Given the description of an element on the screen output the (x, y) to click on. 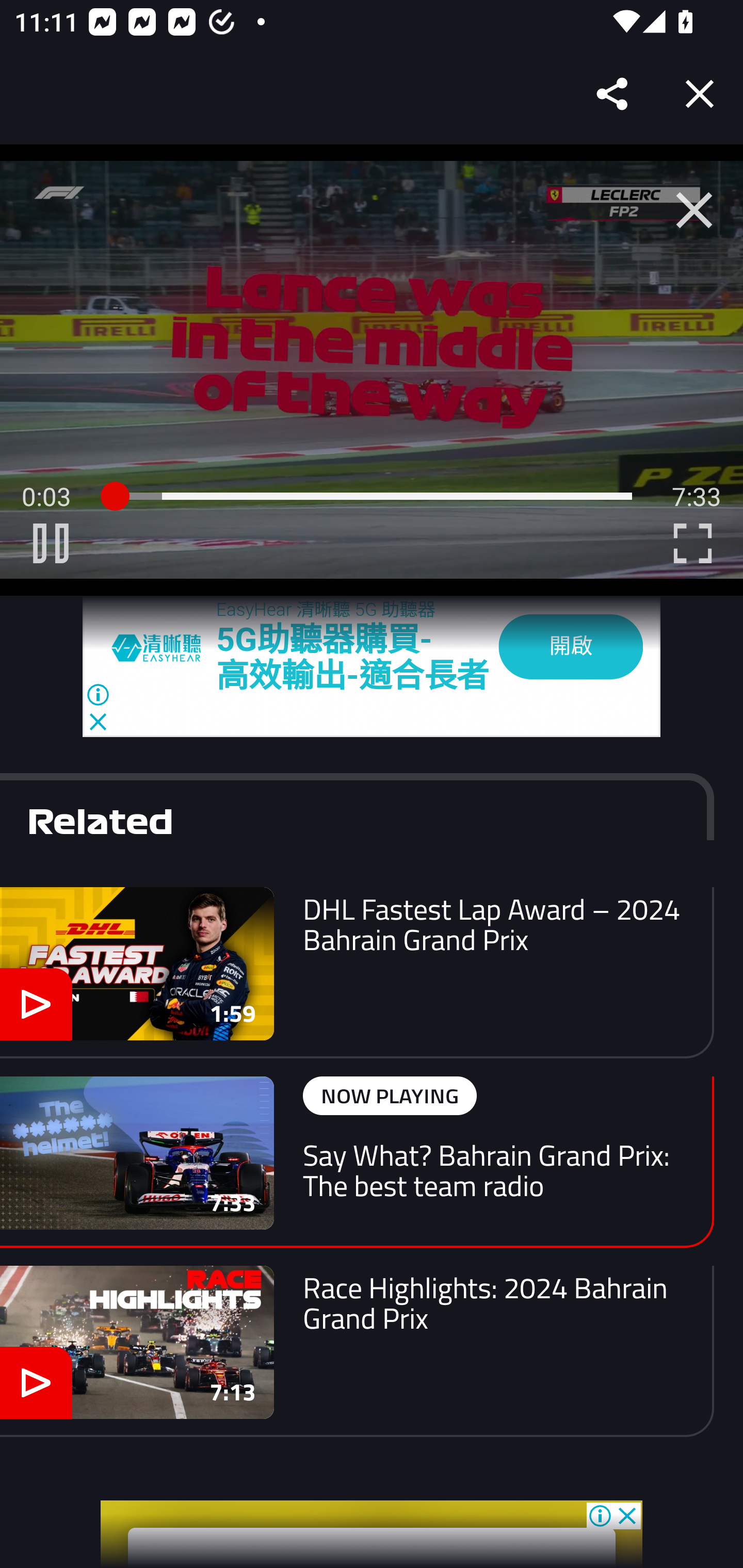
Share (612, 93)
Close (699, 93)
 Close (693, 210)
B Pause (50, 543)
C Enter Fullscreen (692, 543)
easyhear.com (163, 646)
開啟 (570, 646)
5G助聽器購買- 高效輸出-適合長者 5G助聽器購買- 高效輸出-適合長者 (353, 657)
7:13 Race Highlights: 2024 Bahrain Grand Prix (357, 1350)
